Given the description of an element on the screen output the (x, y) to click on. 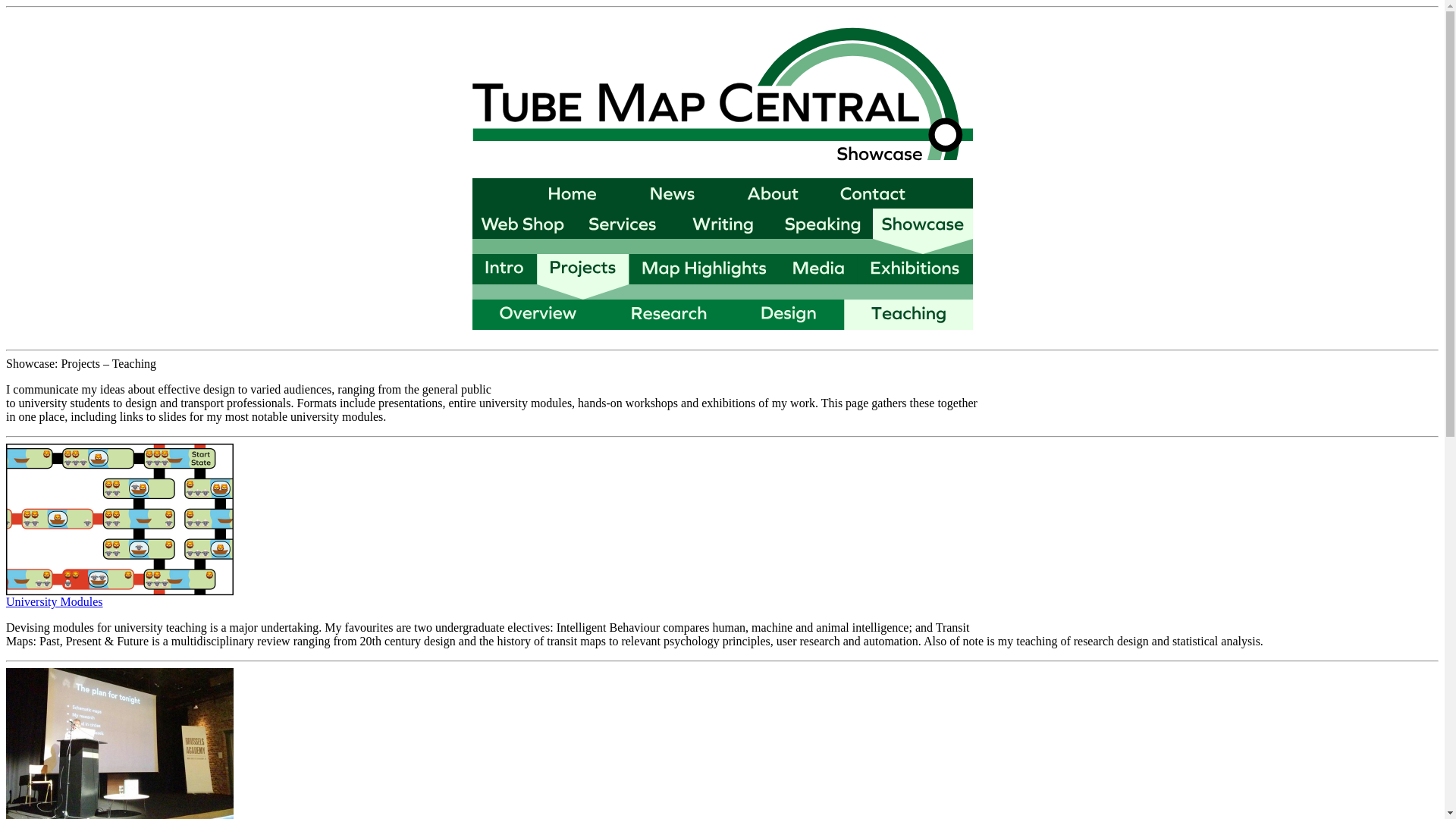
University Modules (54, 601)
